Given the description of an element on the screen output the (x, y) to click on. 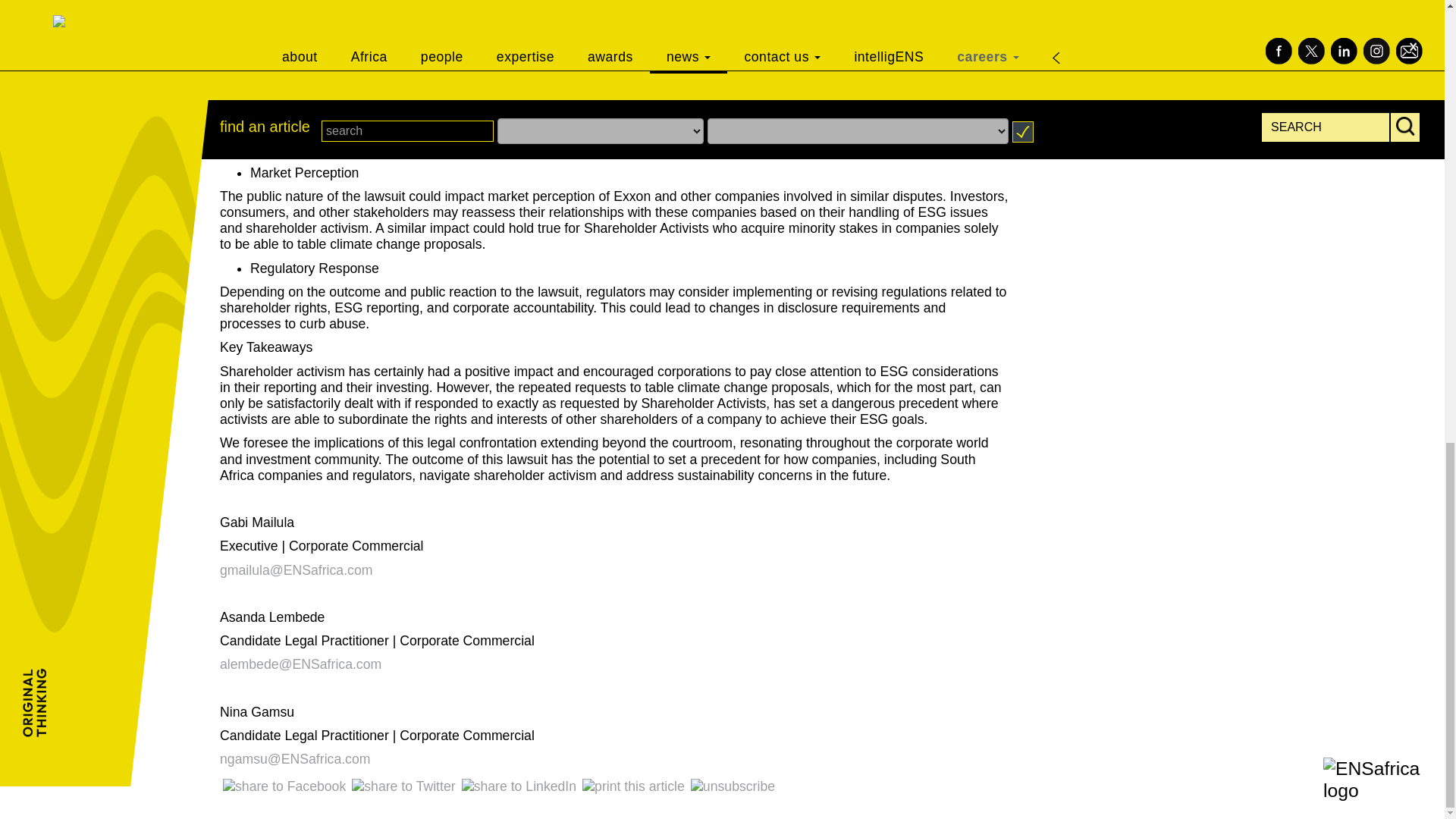
print this article (633, 785)
share to Twitter (403, 785)
share to LinkedIn (518, 785)
unsubscribe (732, 785)
share to Facebook (284, 785)
